Given the description of an element on the screen output the (x, y) to click on. 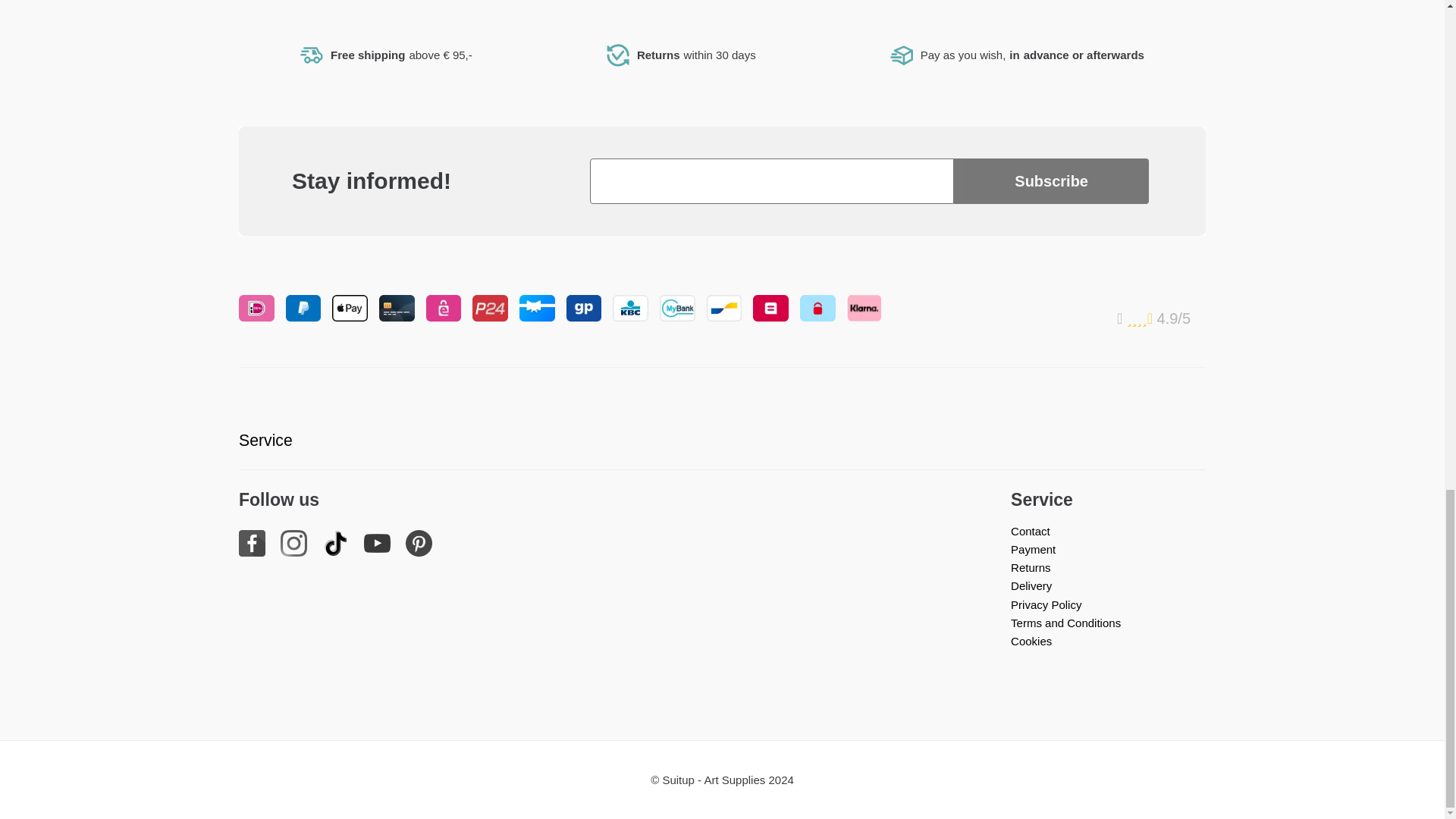
Subscribe (1050, 180)
